Given the description of an element on the screen output the (x, y) to click on. 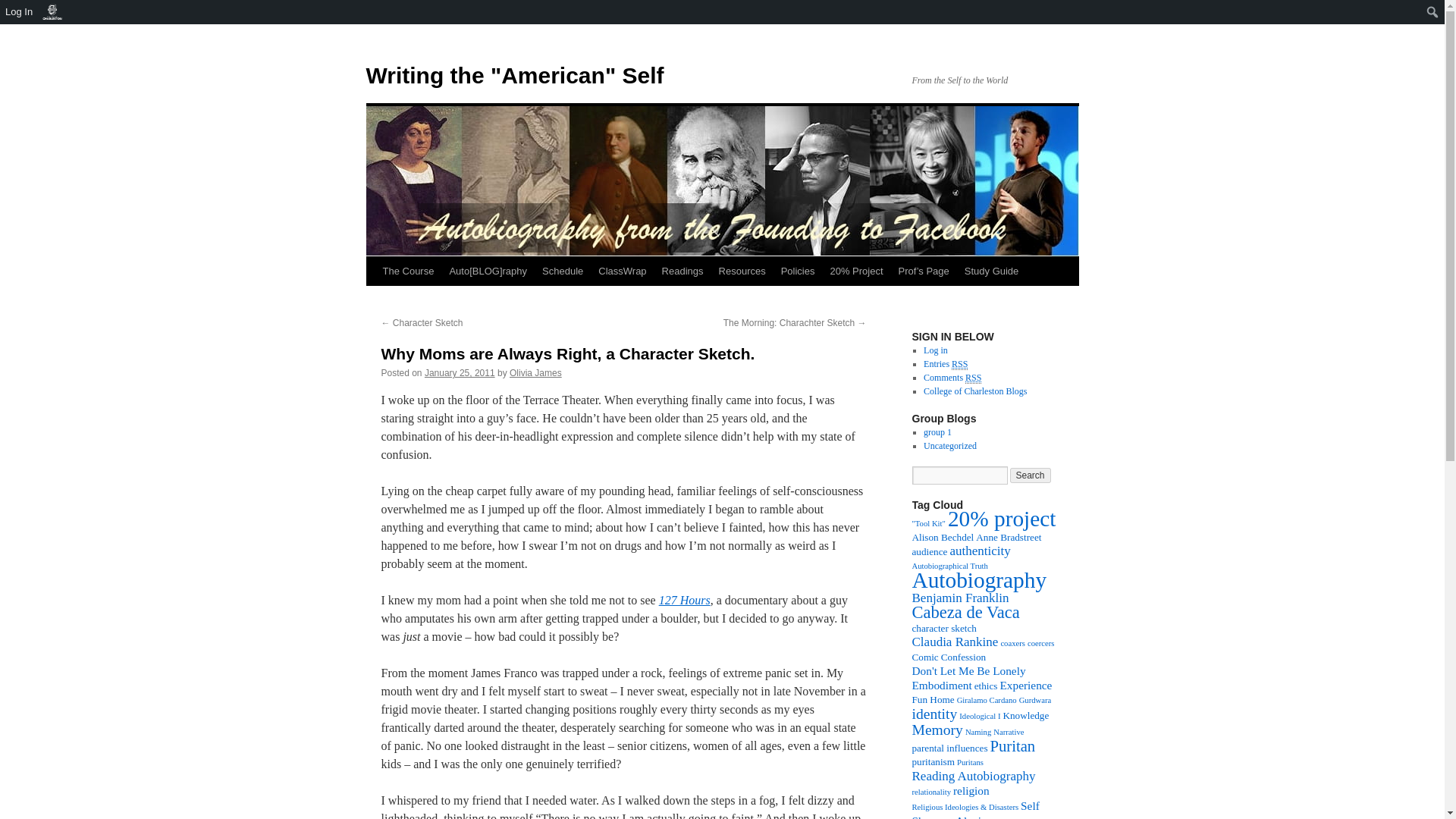
Resources (742, 271)
View all posts by Olivia James (535, 372)
ClassWrap (622, 271)
The latest comments to all posts in RSS (952, 378)
Powered by College of Charleston Blogs (974, 390)
The Course (407, 271)
Policies (797, 271)
Writing the "American" Self (514, 75)
About WordPress (52, 12)
Search (16, 13)
